Given the description of an element on the screen output the (x, y) to click on. 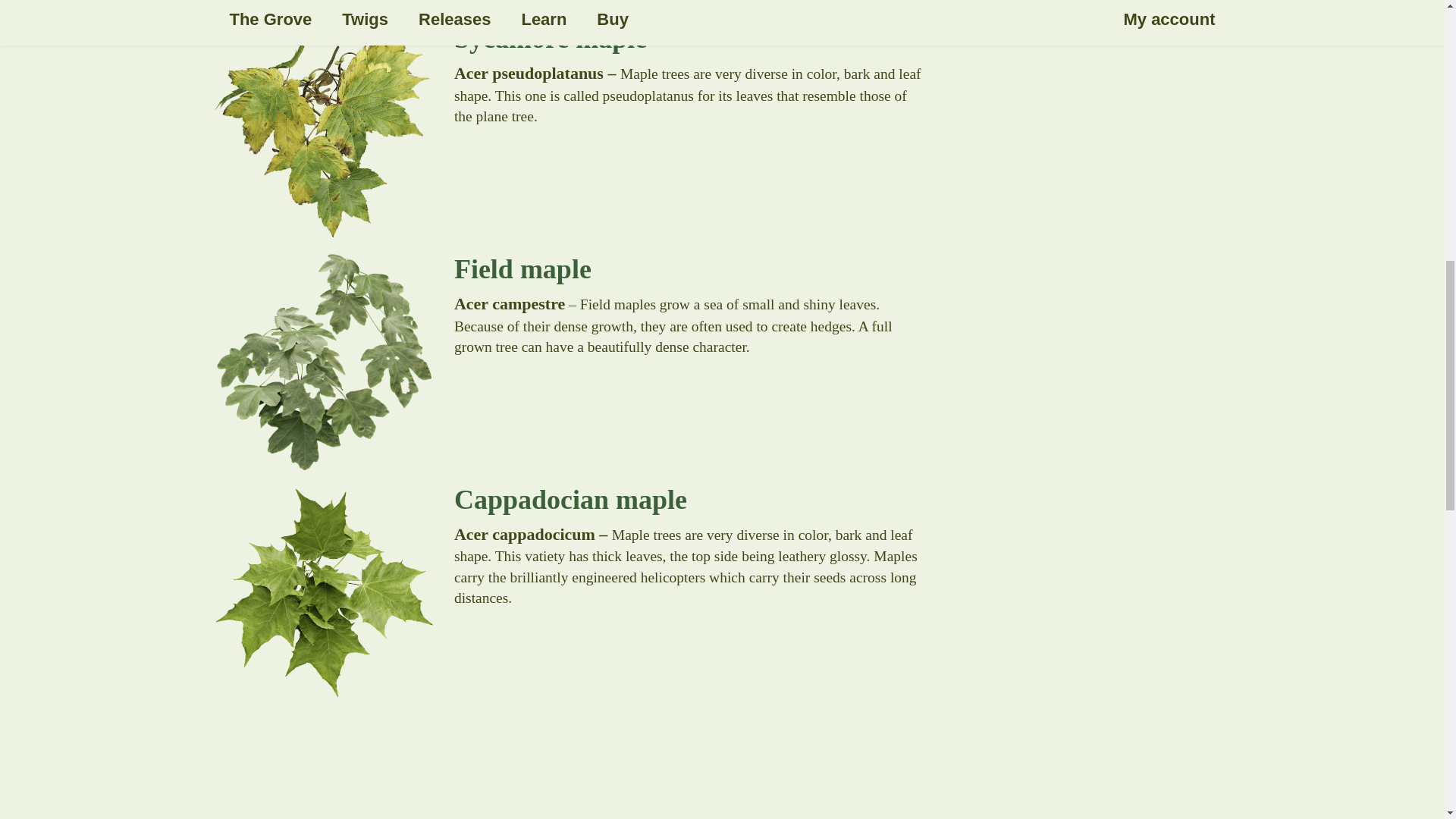
Field maple (569, 266)
Cappadocian maple (569, 497)
Sycamore maple (569, 36)
